Given the description of an element on the screen output the (x, y) to click on. 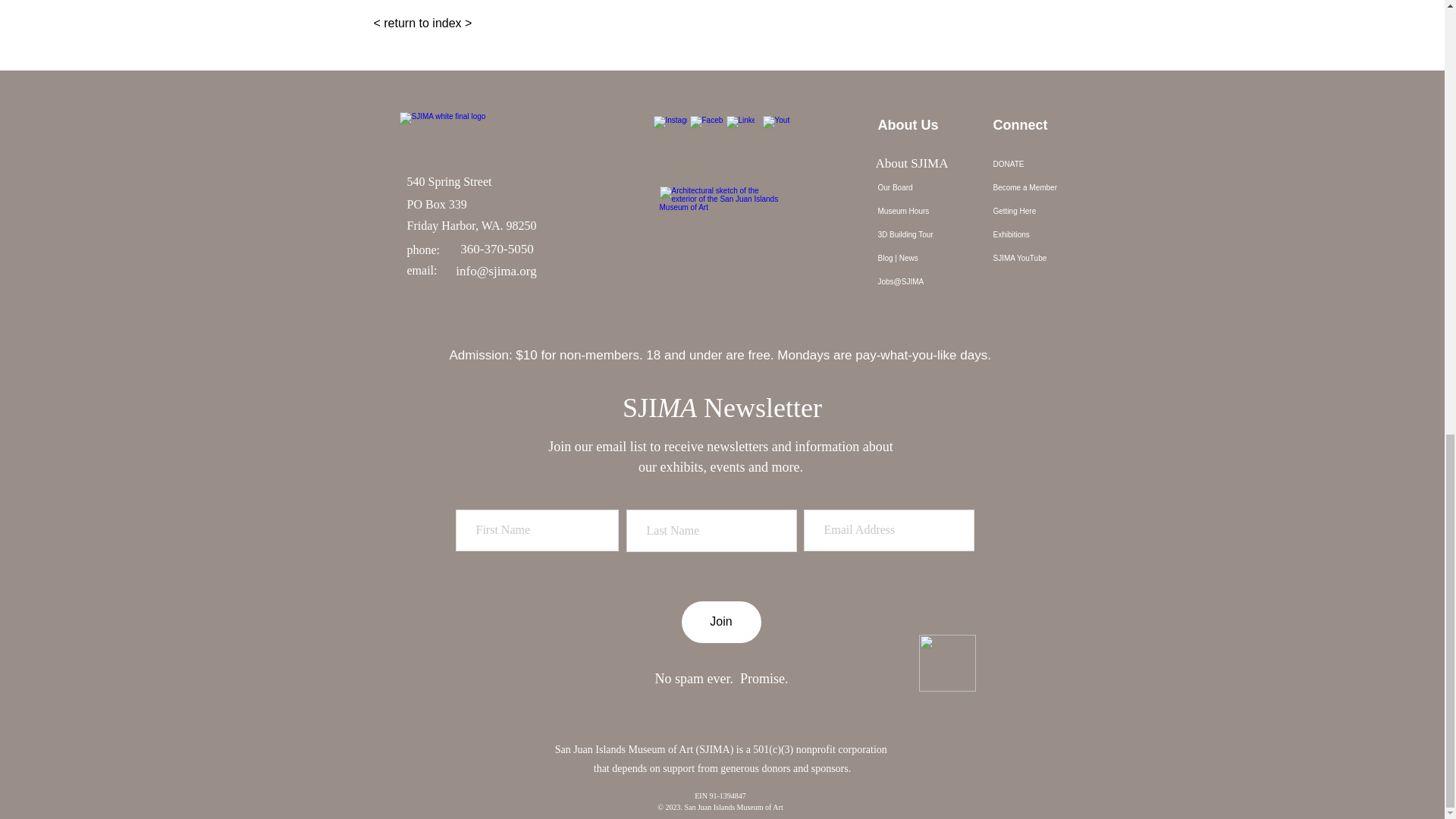
About SJIMA (911, 163)
3D Building Tour (926, 234)
360-370-5050 (497, 249)
Exhibitions (1042, 234)
Getting Here (1042, 210)
Our Board (926, 187)
DONATE (1042, 164)
About Us (926, 164)
Become a Member (1042, 187)
Museum Hours (926, 210)
